Given the description of an element on the screen output the (x, y) to click on. 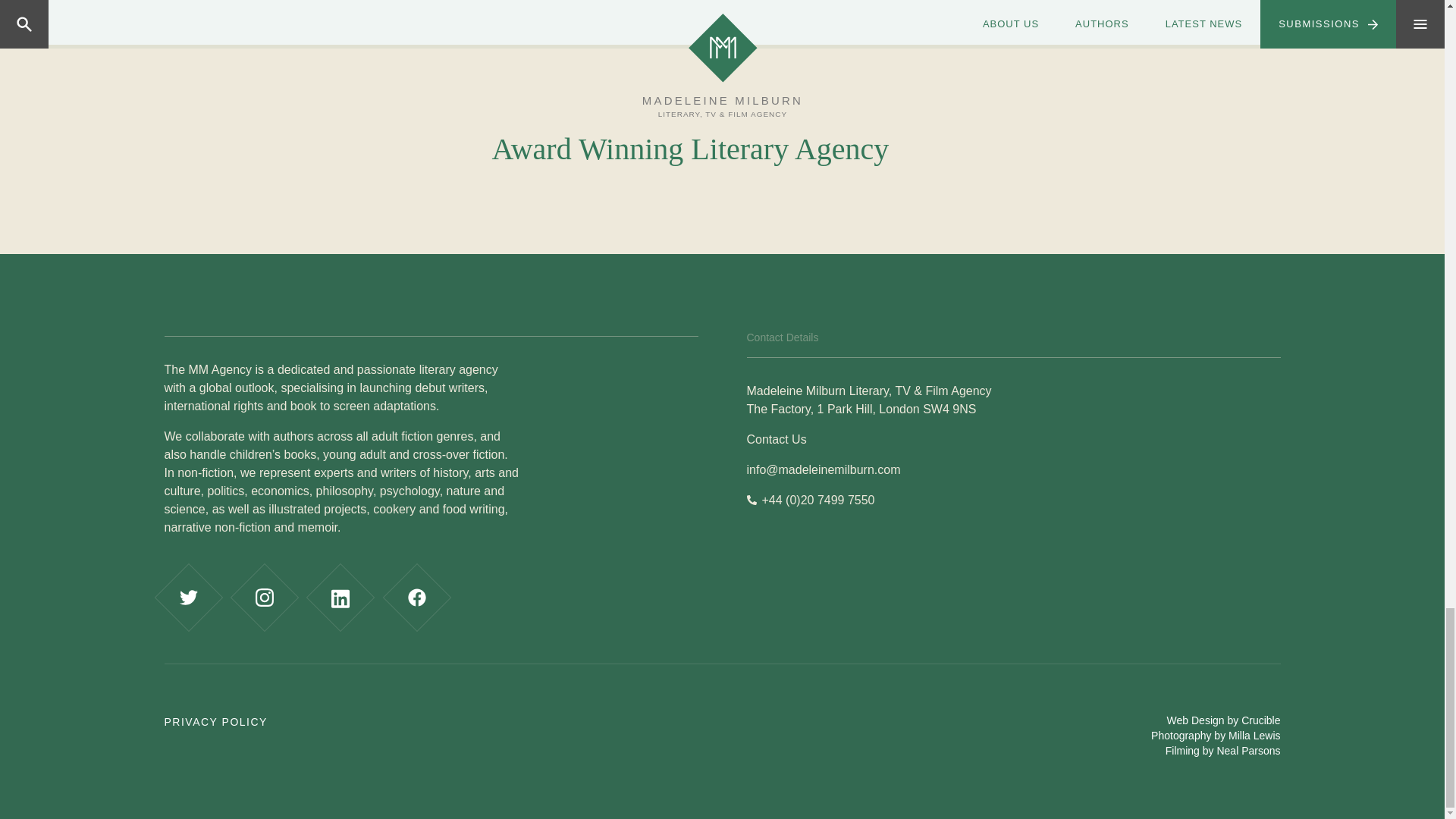
Contact Us (775, 439)
Filming by Neal Parsons (1223, 750)
Photography by Milla Lewis (1215, 735)
Web Design by Crucible (1224, 720)
PRIVACY POLICY (214, 721)
